Given the description of an element on the screen output the (x, y) to click on. 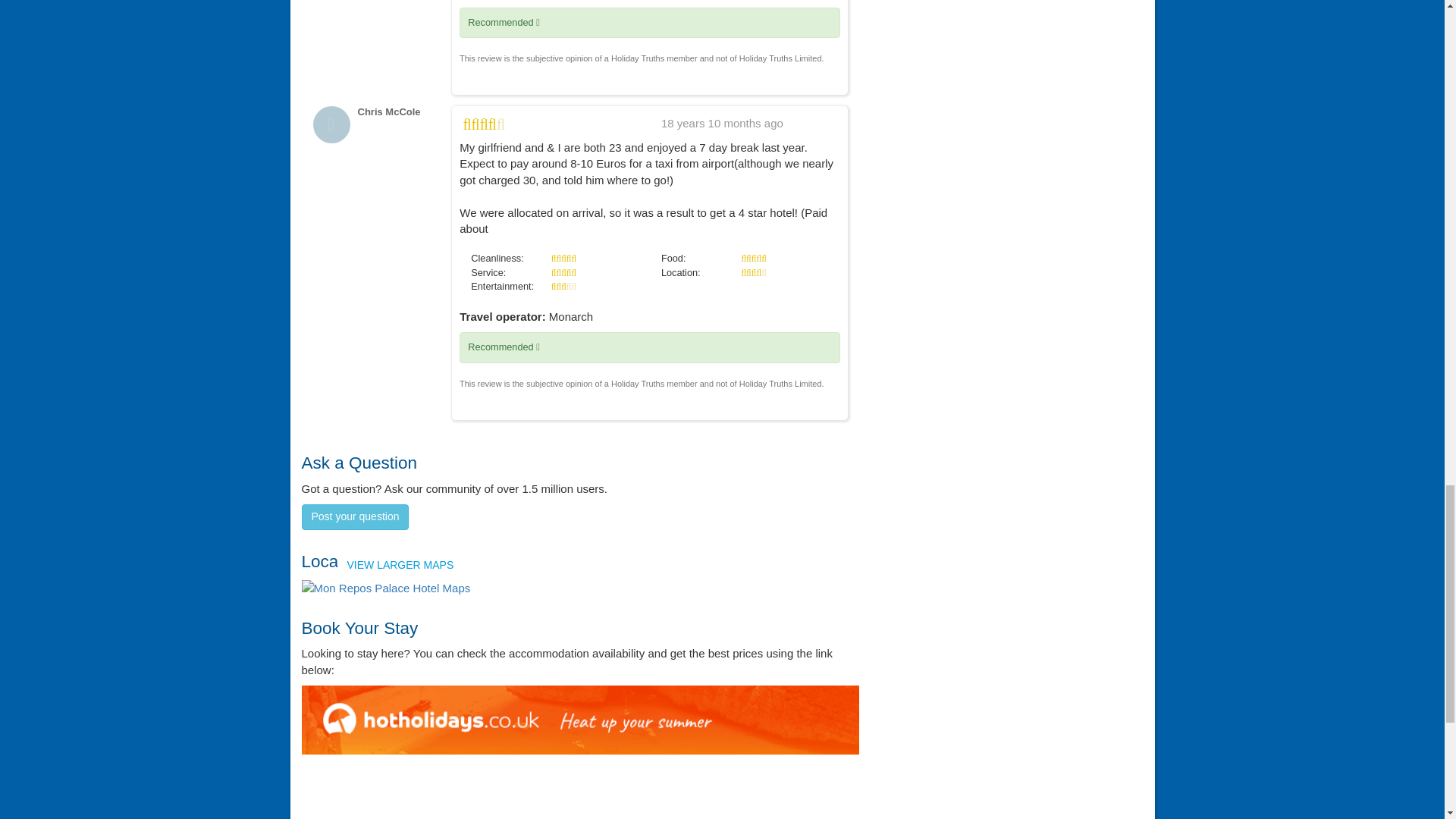
Very Good (484, 124)
VIEW LARGER MAPS (385, 588)
Excellent (563, 257)
Post your question (355, 516)
